Given the description of an element on the screen output the (x, y) to click on. 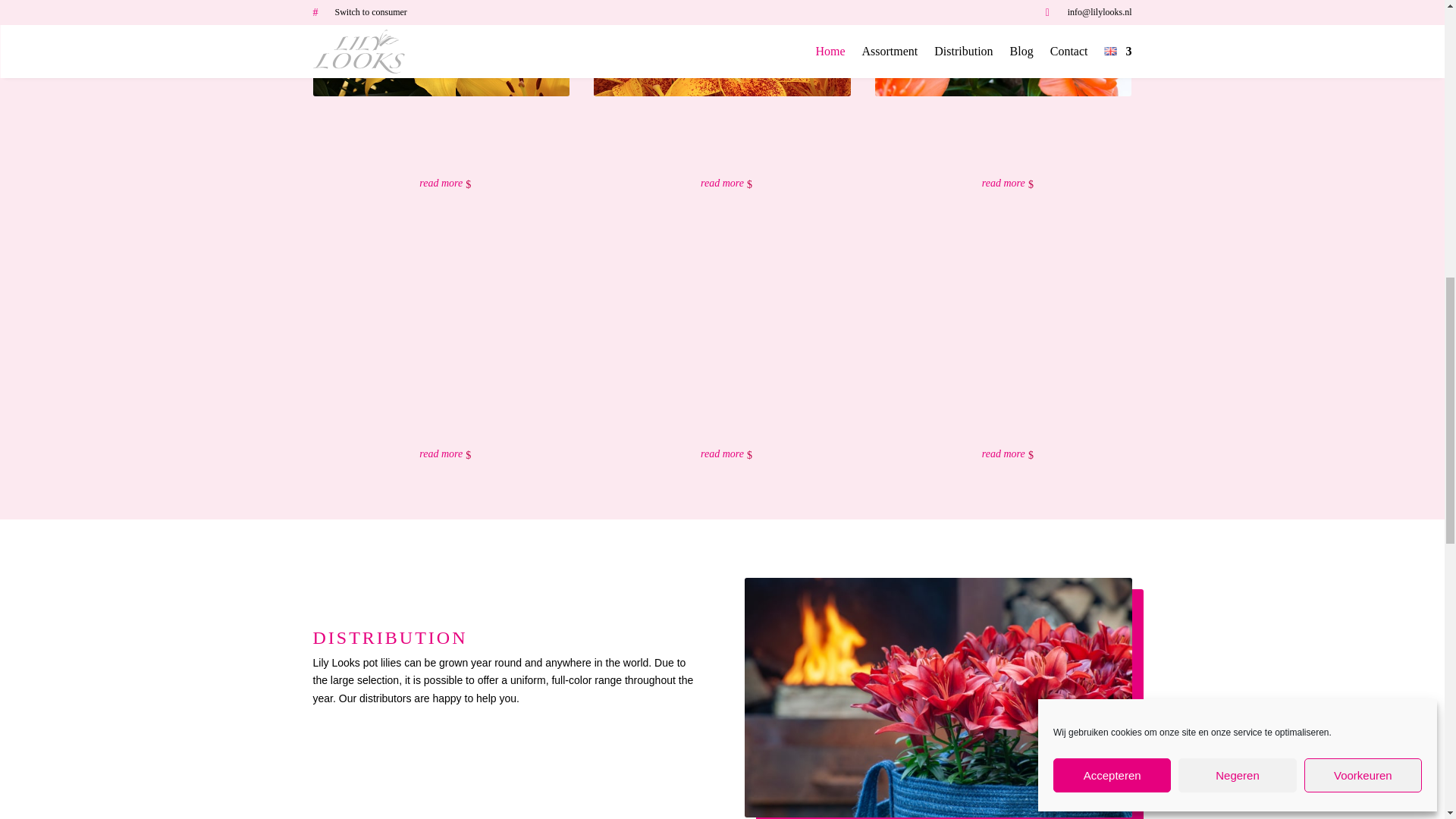
read more (722, 454)
read more (441, 183)
read more (441, 454)
read more (1003, 454)
read more (1003, 183)
read more (722, 183)
